Given the description of an element on the screen output the (x, y) to click on. 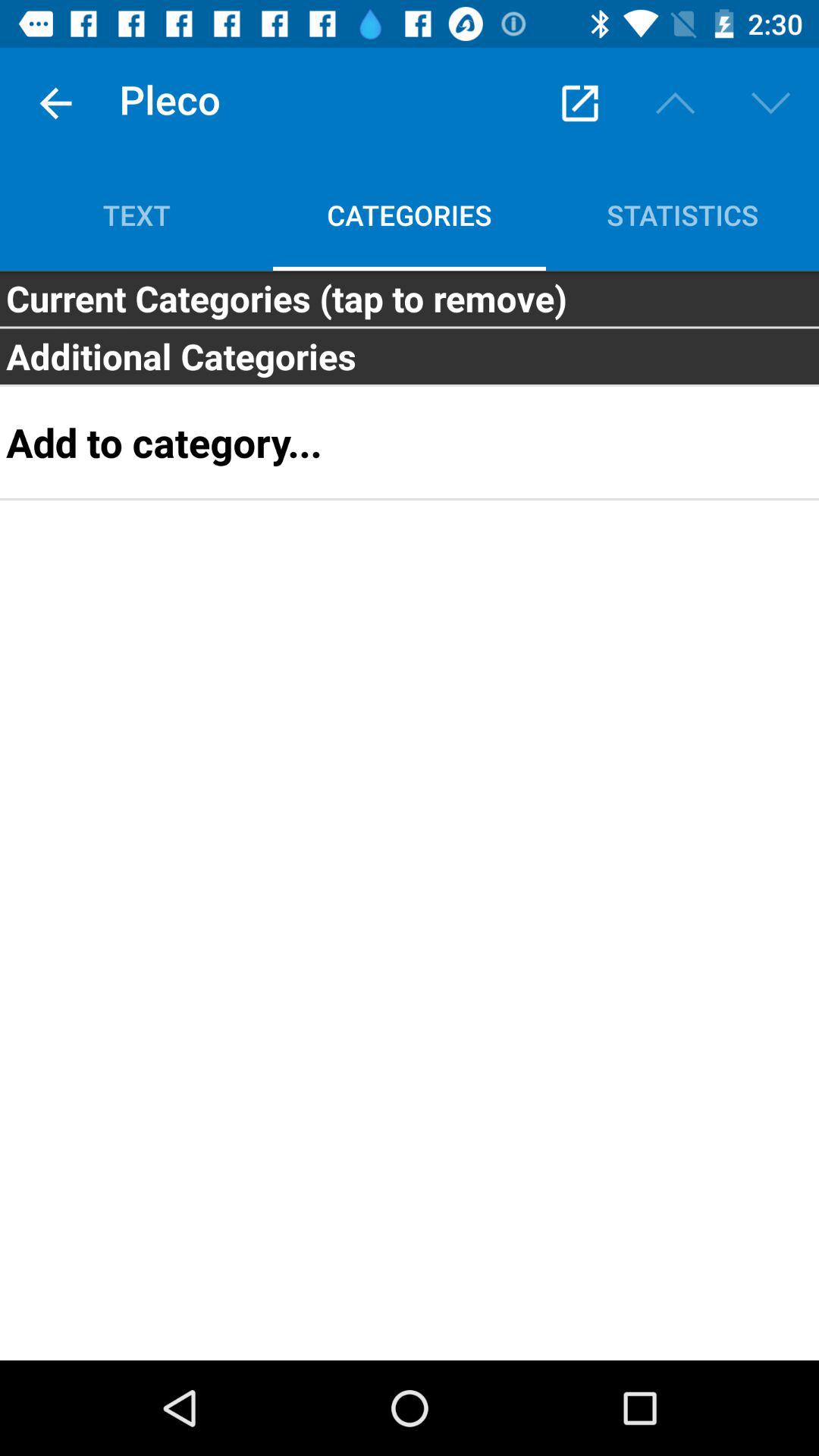
turn on item above the add to category... item (409, 356)
